Given the description of an element on the screen output the (x, y) to click on. 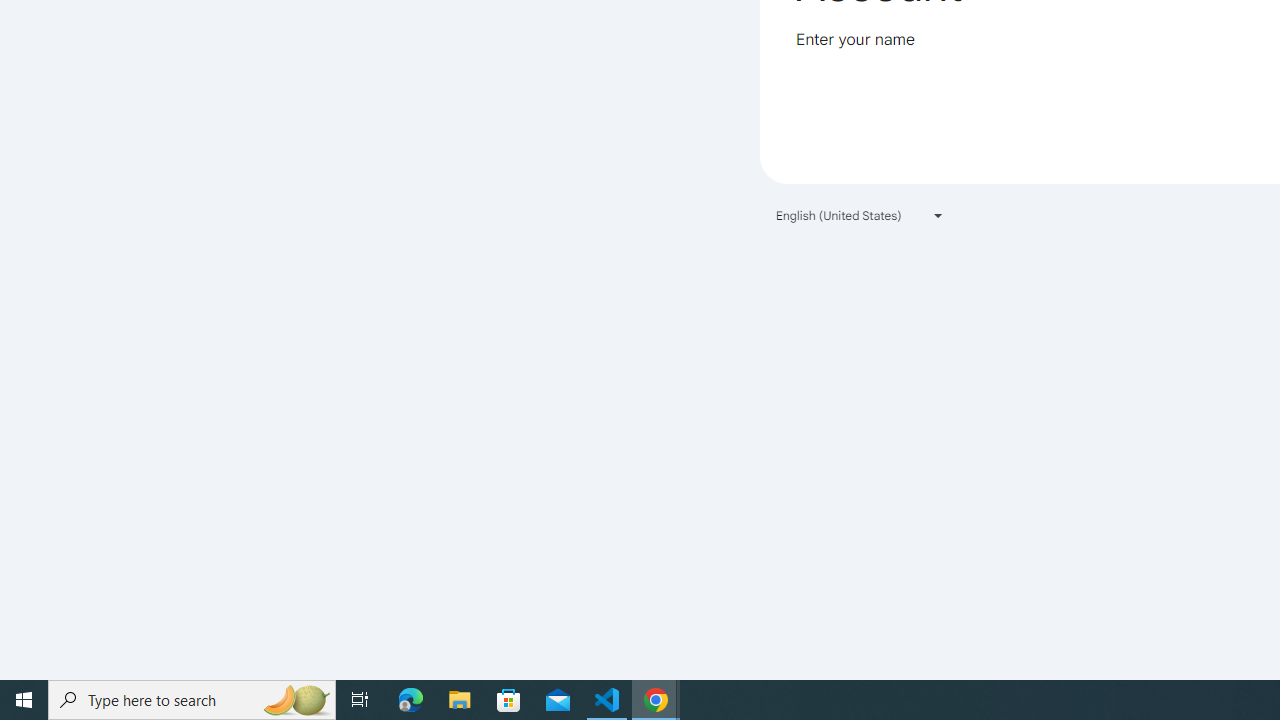
English (United States) (860, 214)
